Given the description of an element on the screen output the (x, y) to click on. 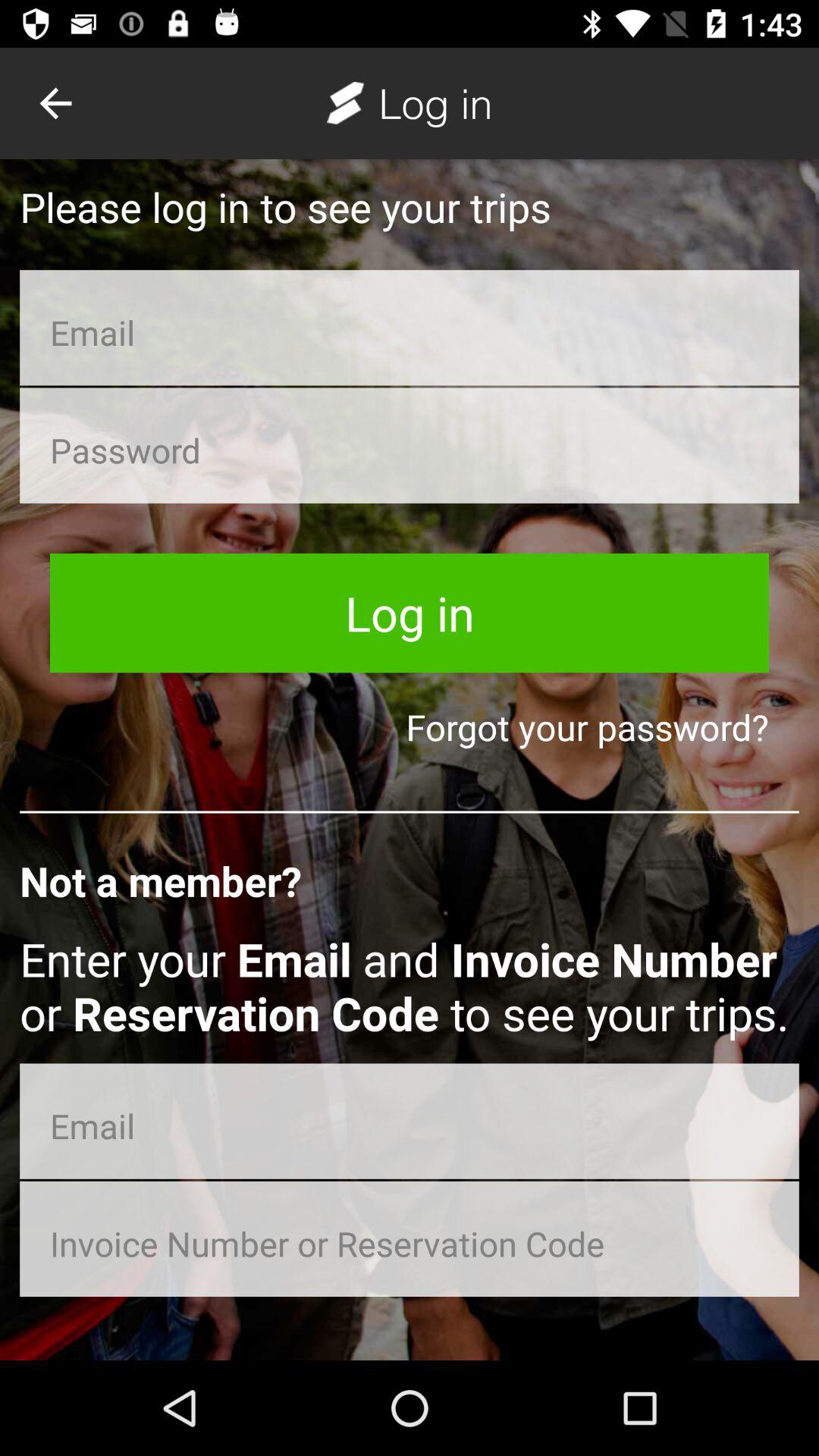
enter email in the box (409, 1121)
